Given the description of an element on the screen output the (x, y) to click on. 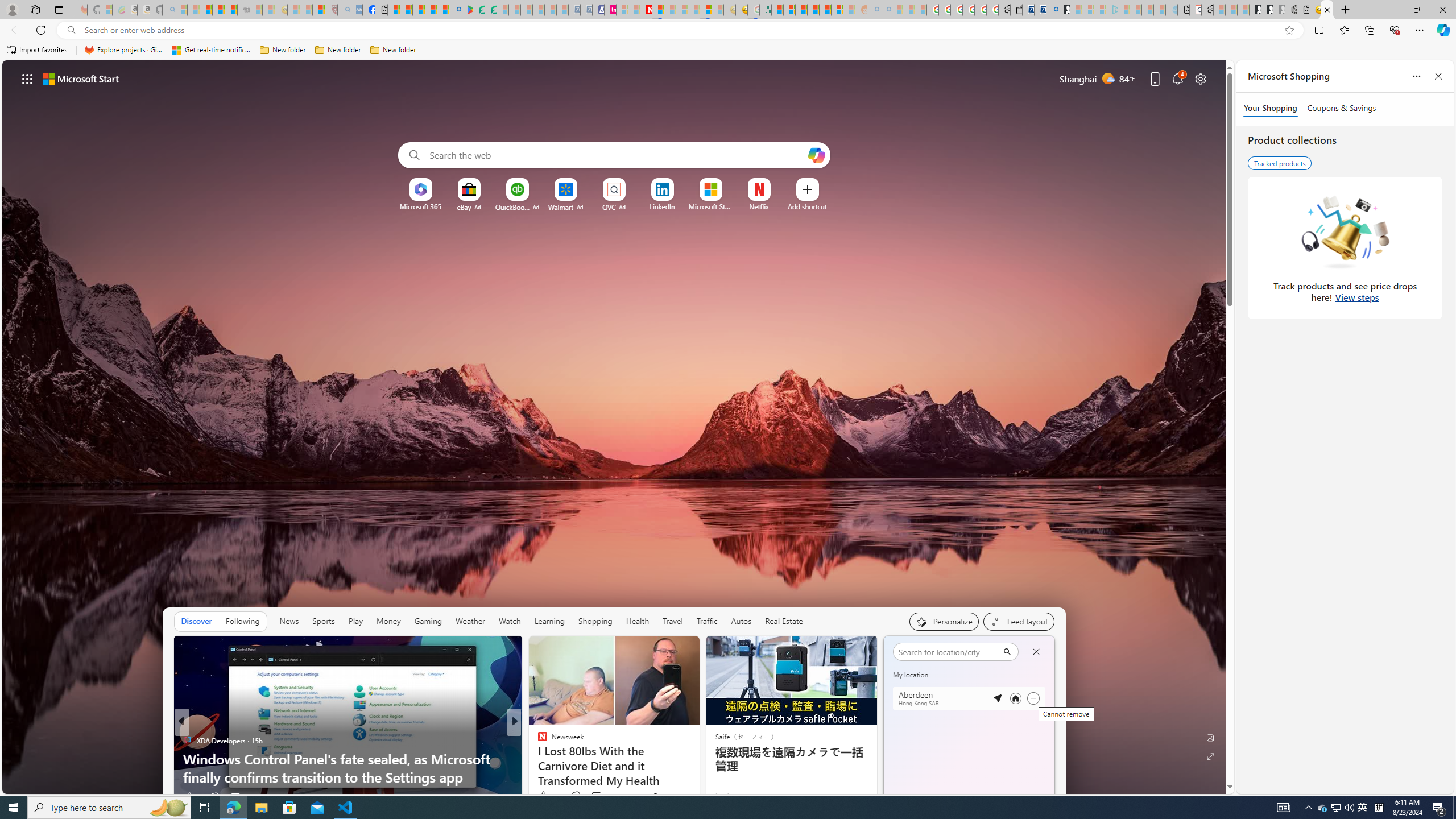
Cannot remove (1032, 698)
Expert Portfolios (813, 9)
365 Like (545, 796)
Sunny (937, 742)
CNBC (537, 740)
383 Like (548, 795)
Netflix (758, 206)
